Given the description of an element on the screen output the (x, y) to click on. 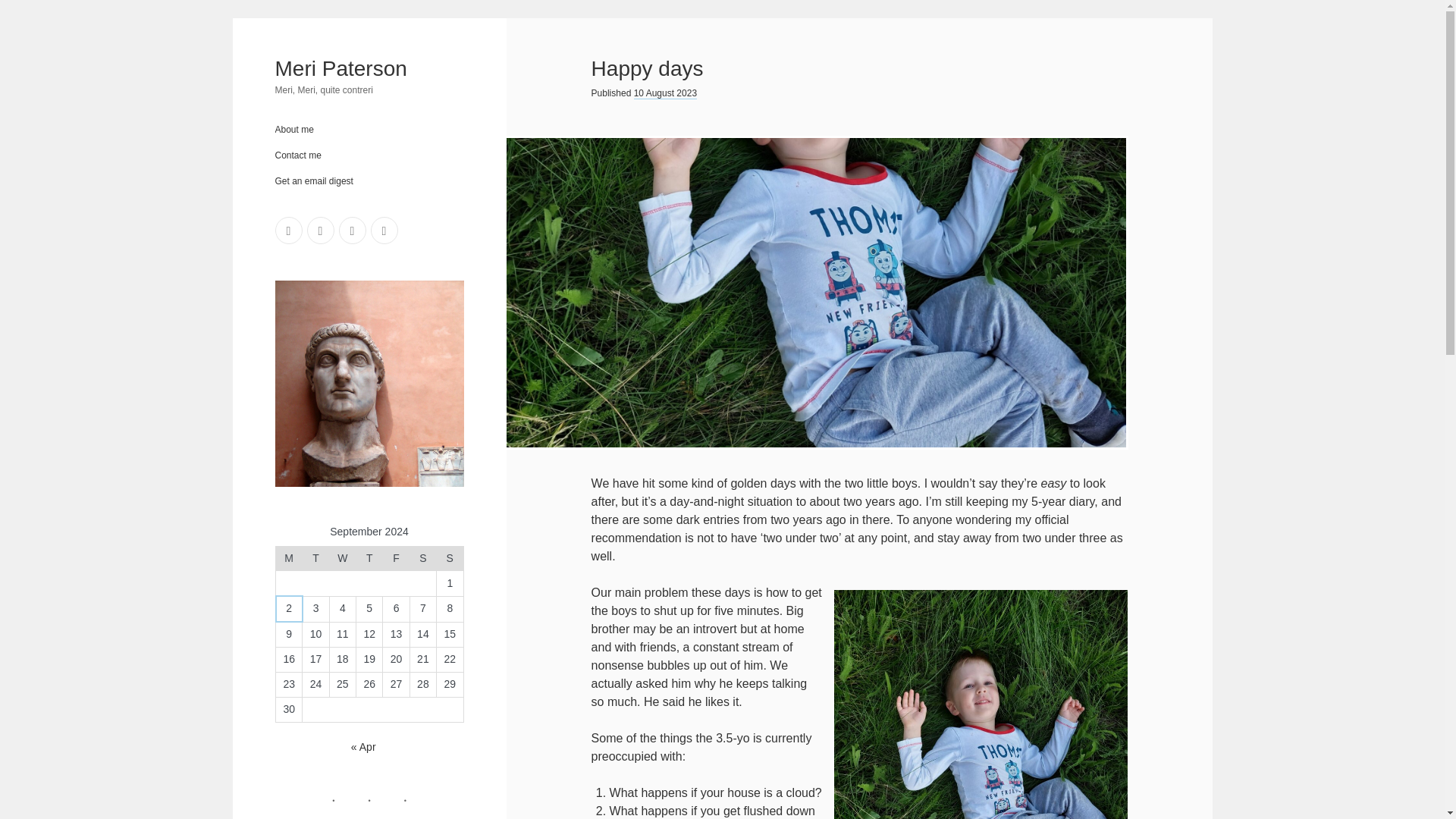
Meri Paterson (340, 68)
Contact me (297, 155)
Sunday (449, 558)
Wednesday (342, 558)
linkedin (288, 230)
email (351, 230)
Friday (395, 558)
rss (319, 230)
Thursday (369, 558)
Get an email digest (313, 181)
